Given the description of an element on the screen output the (x, y) to click on. 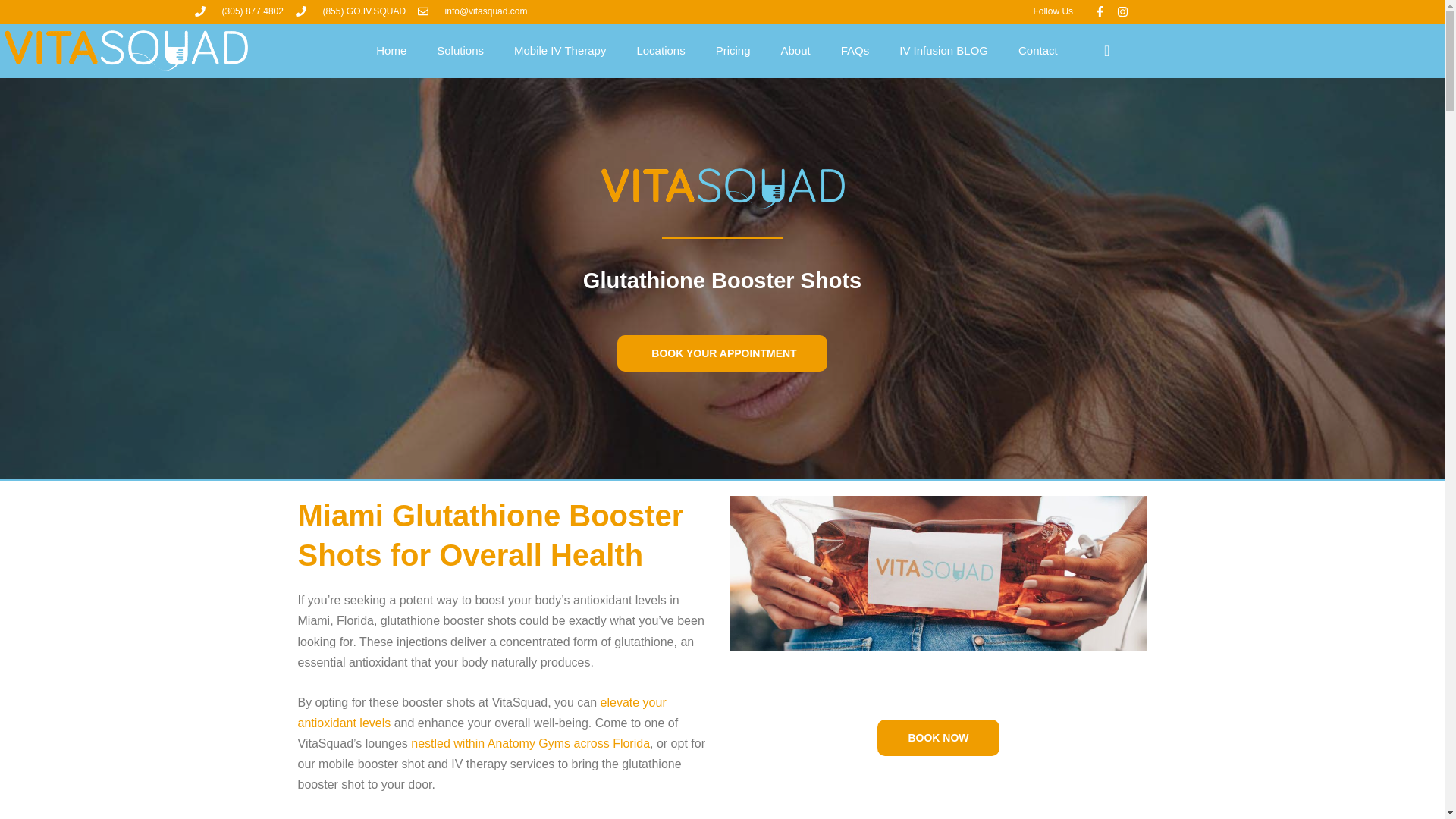
Pricing (732, 50)
BOOK YOUR APPOINTMENT (722, 352)
Contact (1038, 50)
Locations (660, 50)
FAQs (855, 50)
BOOK NOW (937, 737)
IV Infusion BLOG (943, 50)
elevate your antioxidant levels (481, 712)
Instagram (1122, 11)
nestled within Anatomy Gyms across Florida (529, 743)
About (795, 50)
Mobile IV Therapy (560, 50)
Home (391, 50)
Facebook-f (1098, 11)
Solutions (460, 50)
